Given the description of an element on the screen output the (x, y) to click on. 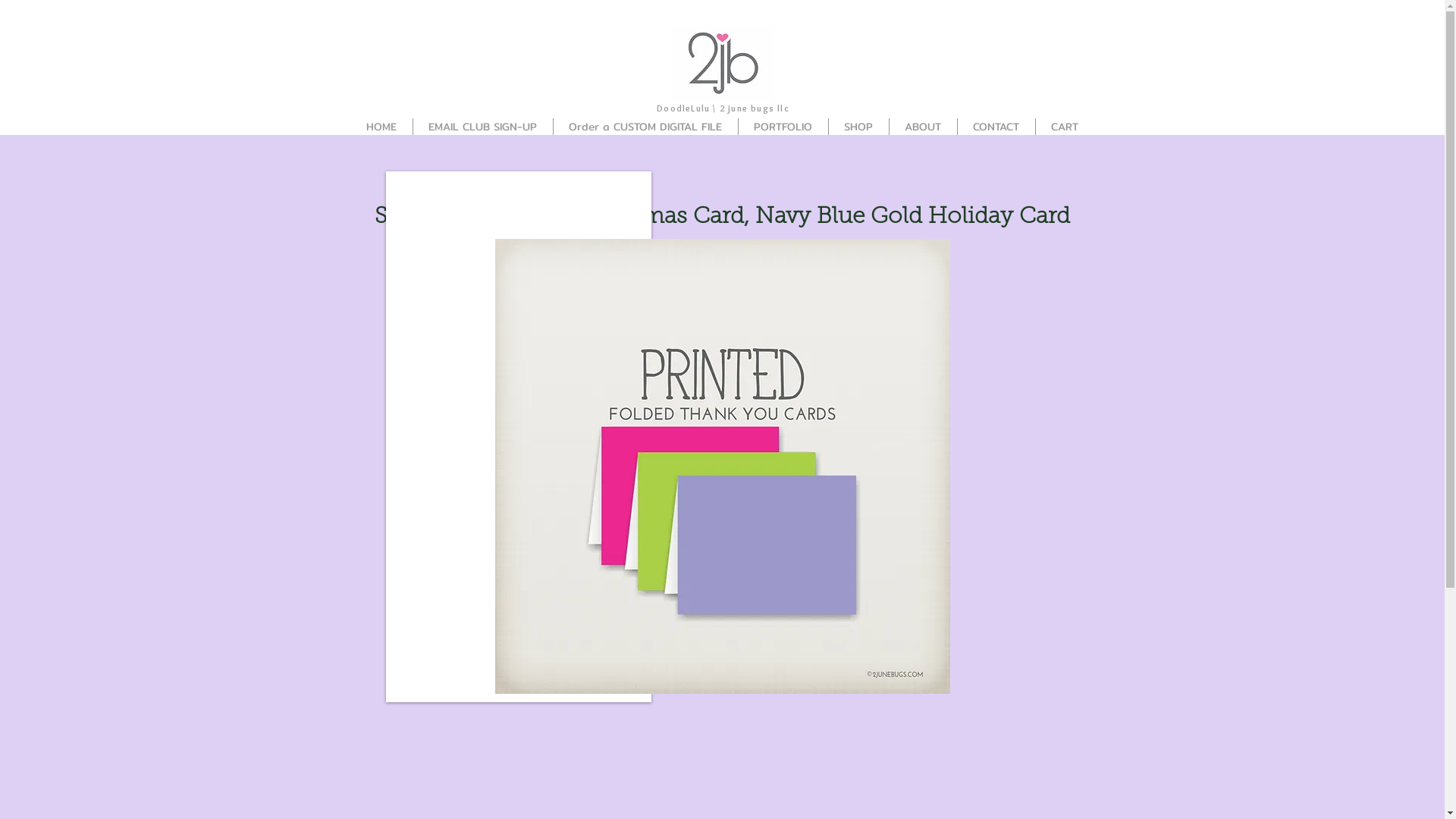
SHOP Element type: text (858, 126)
CART Element type: text (1063, 126)
ABOUT Element type: text (922, 126)
PORTFOLIO Element type: text (782, 126)
EMAIL CLUB SIGN-UP Element type: text (482, 126)
CONTACT Element type: text (996, 126)
Order a CUSTOM DIGITAL FILE Element type: text (644, 126)
HOME Element type: text (380, 126)
